Given the description of an element on the screen output the (x, y) to click on. 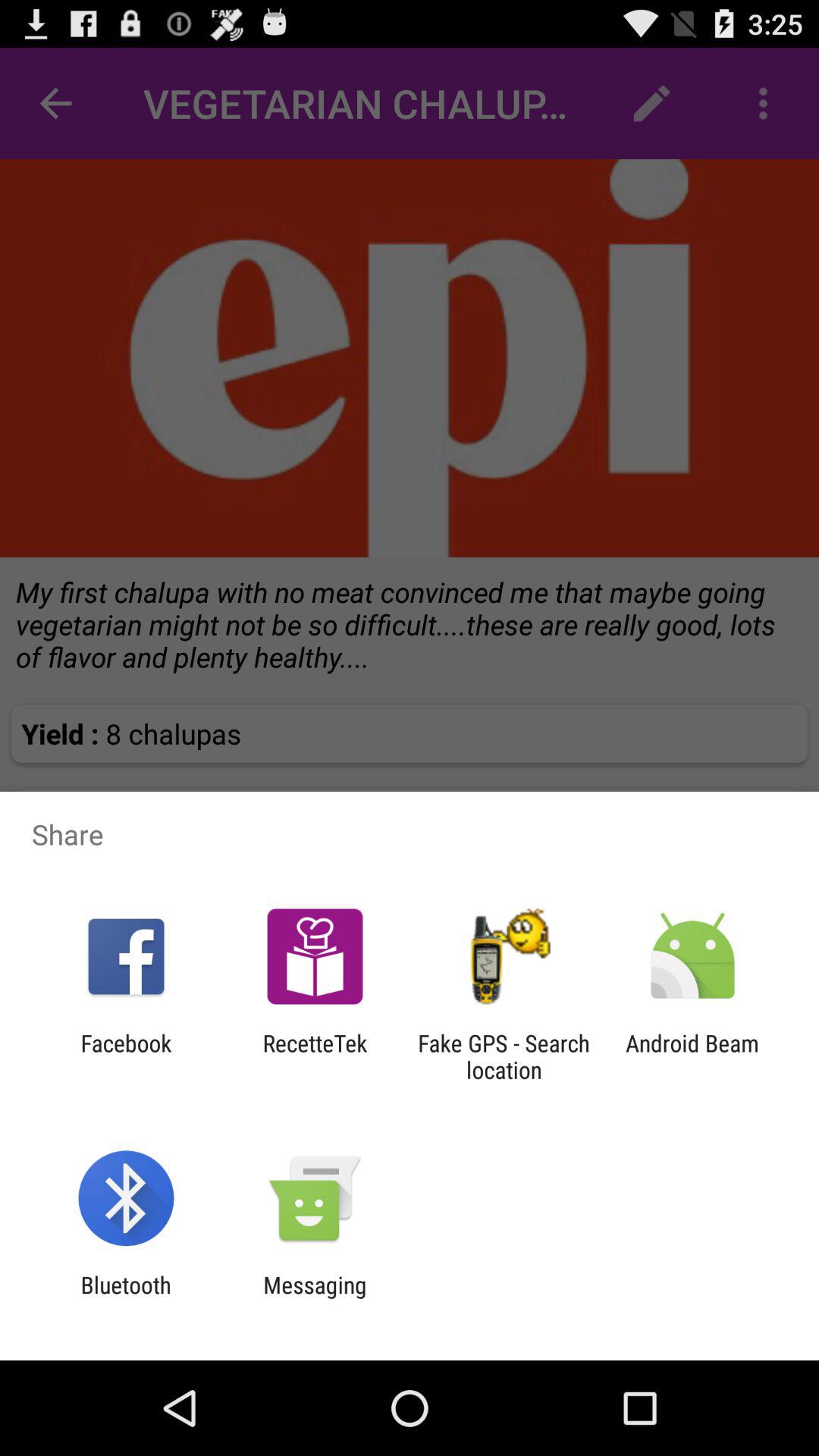
turn on icon to the left of the recettetek app (125, 1056)
